Given the description of an element on the screen output the (x, y) to click on. 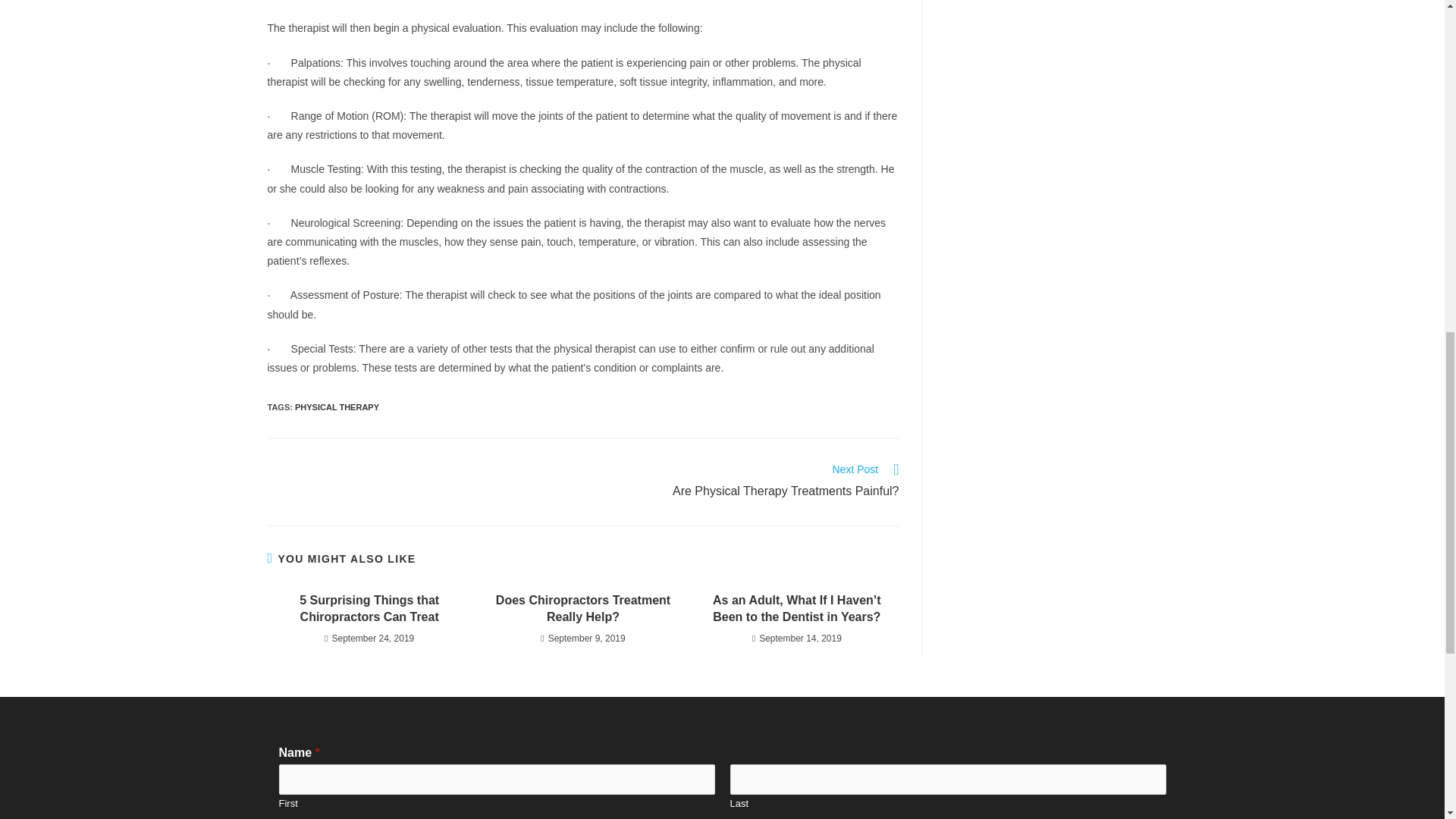
PHYSICAL THERAPY (748, 481)
Does Chiropractors Treatment Really Help? (336, 406)
5 Surprising Things that Chiropractors Can Treat (582, 609)
